Given the description of an element on the screen output the (x, y) to click on. 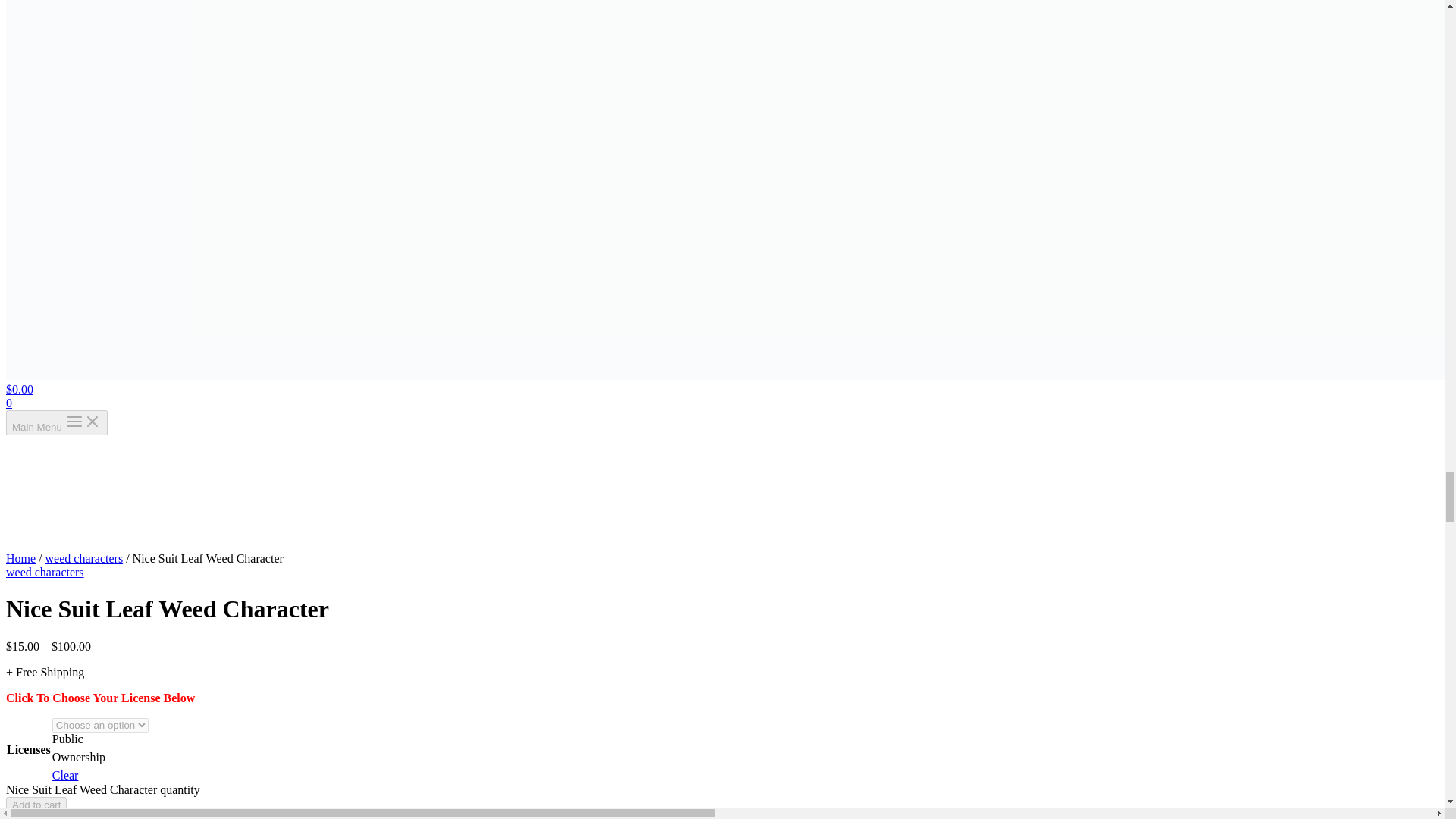
cool (328, 816)
leaf (419, 816)
leaves (448, 816)
weed characters (149, 816)
green (390, 816)
ganja (358, 816)
Home (19, 558)
skull (509, 816)
character (289, 816)
weed characters (44, 571)
